Given the description of an element on the screen output the (x, y) to click on. 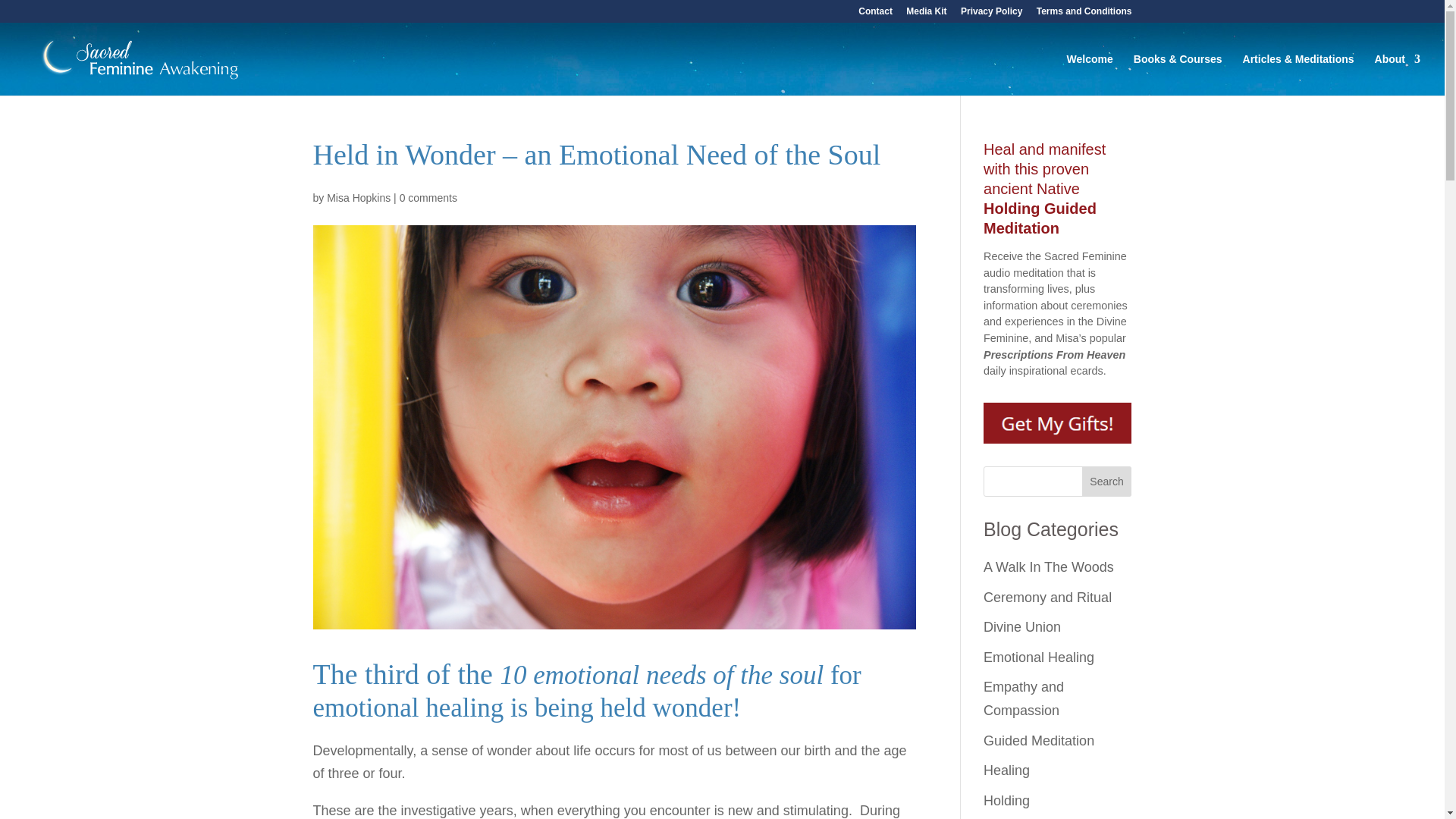
Search (1106, 481)
Posts by Misa Hopkins (358, 197)
10 emotional needs of the soul (661, 675)
Media Kit (925, 14)
Terms and Conditions (1084, 14)
Contact (875, 14)
Welcome (1090, 74)
Privacy Policy (991, 14)
Misa Hopkins (358, 197)
0 comments (427, 197)
